Given the description of an element on the screen output the (x, y) to click on. 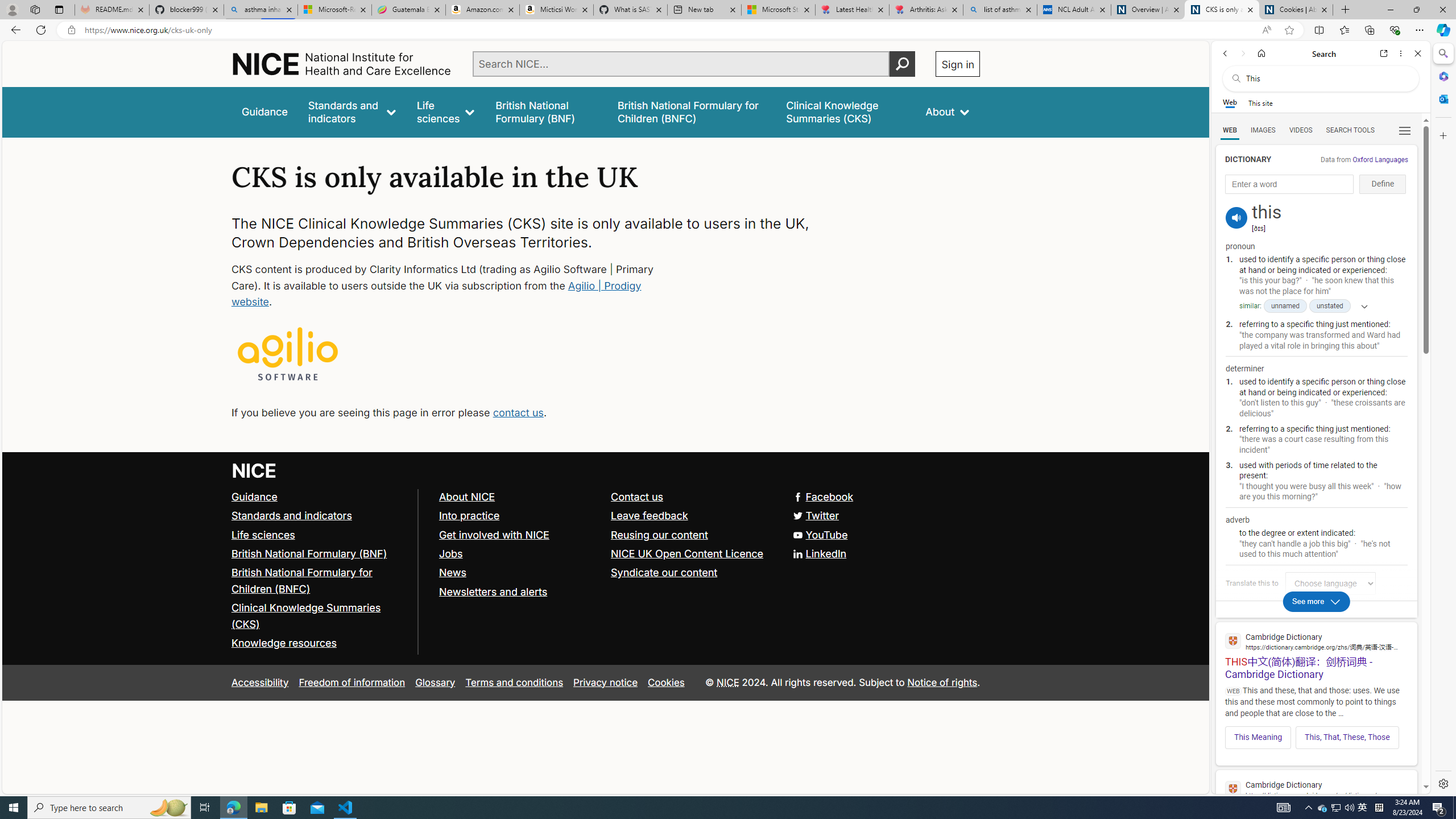
Terms and conditions (514, 682)
Open link in new tab (1383, 53)
Settings (1442, 783)
Microsoft-Report a Concern to Bing (334, 9)
LinkedIn (605, 553)
Side bar (1443, 418)
Class: b_serphb (1404, 130)
Search Filter, IMAGES (1262, 129)
Favorites (1344, 29)
Settings and more (Alt+F) (1419, 29)
IMAGES (1262, 130)
